Given the description of an element on the screen output the (x, y) to click on. 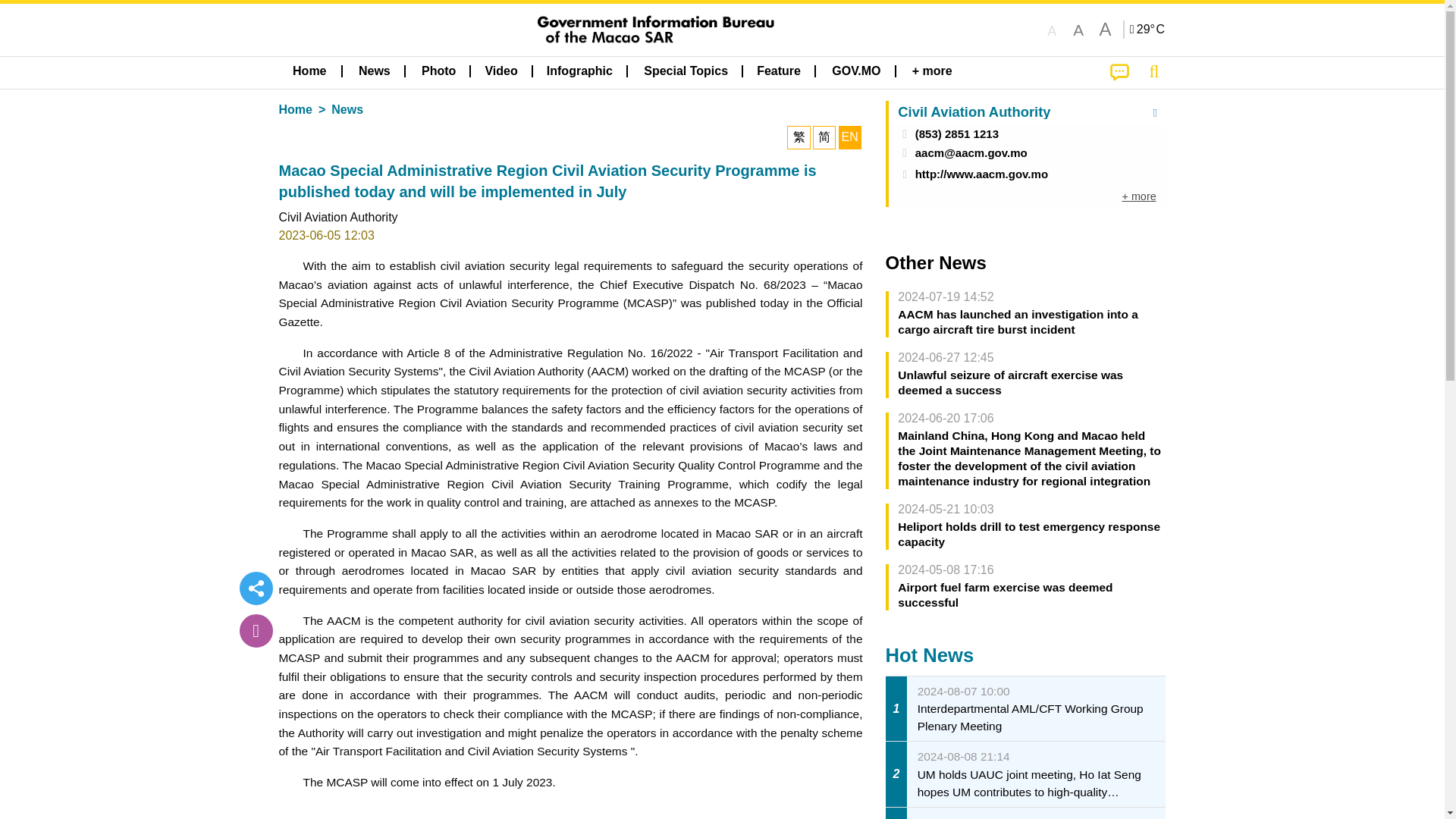
Search (1152, 71)
Special Info (1147, 29)
Home (309, 70)
A (1051, 29)
A (1077, 29)
Suggestions (1118, 72)
A (1104, 29)
